Given the description of an element on the screen output the (x, y) to click on. 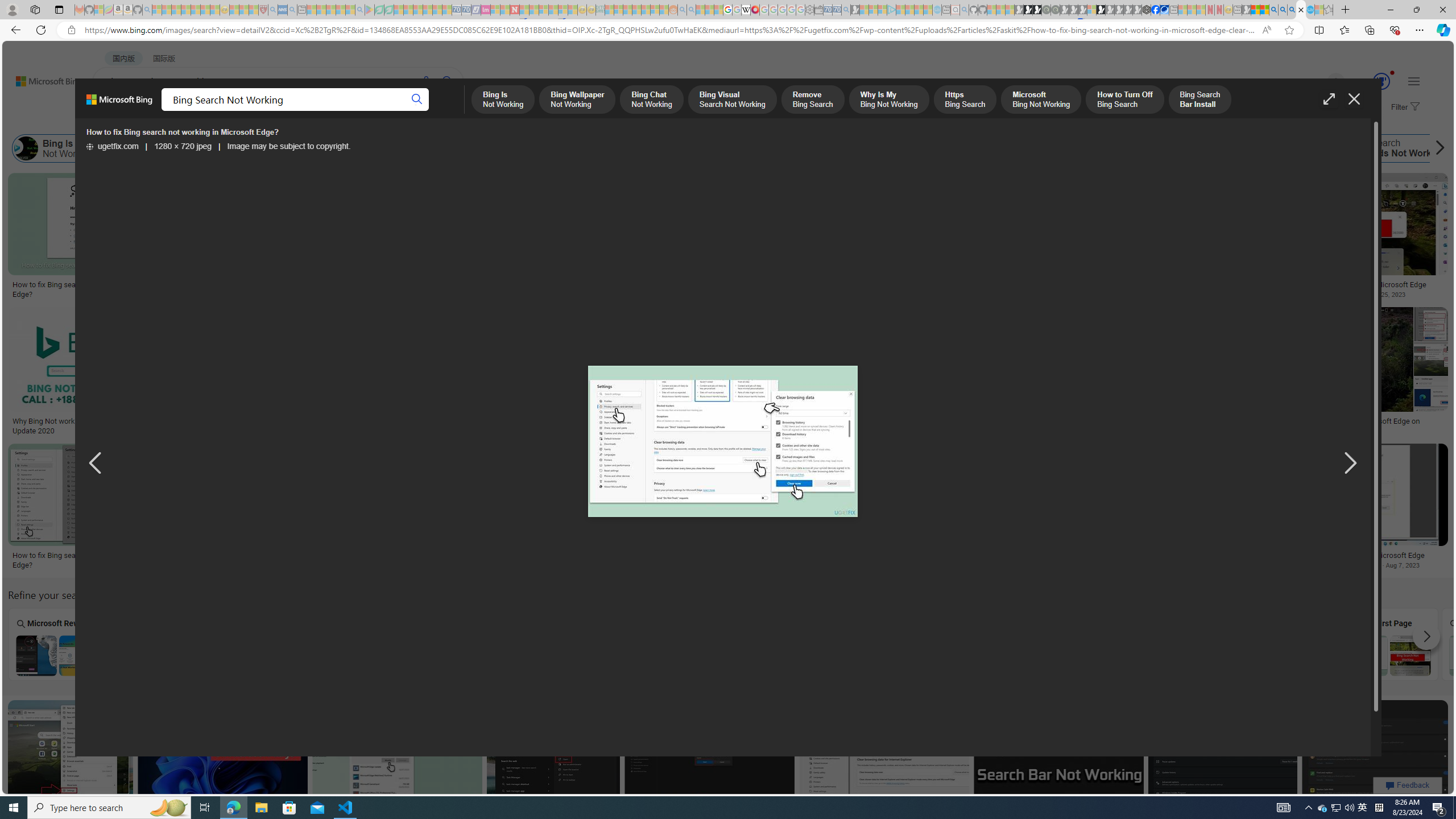
Why First Page (1388, 643)
Microsoft Bing Not Working (808, 148)
Filter (1403, 107)
Bing Search the Web for Image Not Working (671, 655)
Bing Tablet Search Not Working (364, 655)
How to fix Bing search not working in Microsoft Edge? (1023, 560)
Bing Search Bar Install (996, 148)
AirNow.gov (1163, 9)
Remove Bing Search (494, 148)
